Given the description of an element on the screen output the (x, y) to click on. 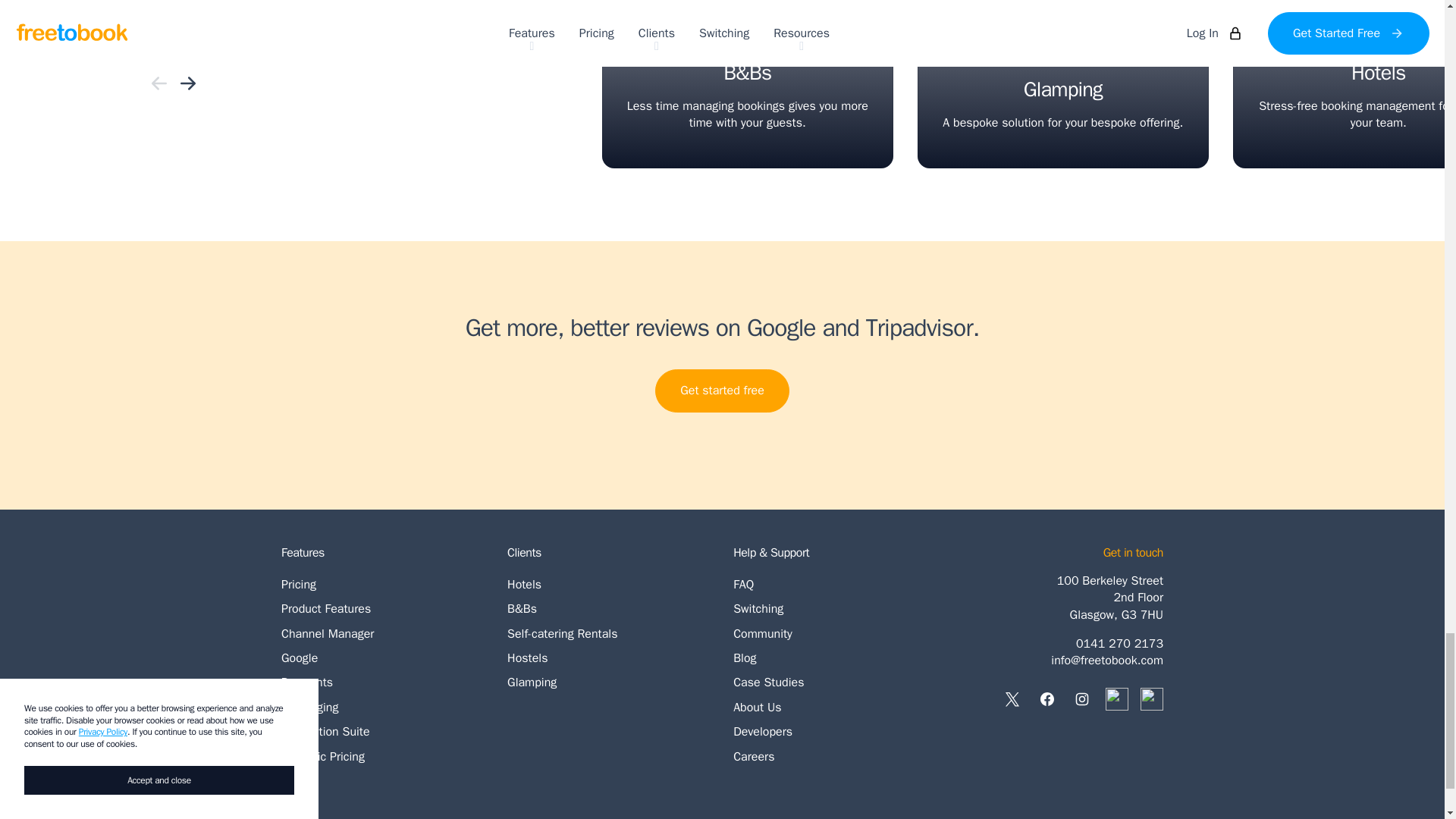
Pricing (1062, 84)
Google (382, 584)
Channel Manager (382, 658)
Get started free (382, 633)
Product Features (722, 390)
